Given the description of an element on the screen output the (x, y) to click on. 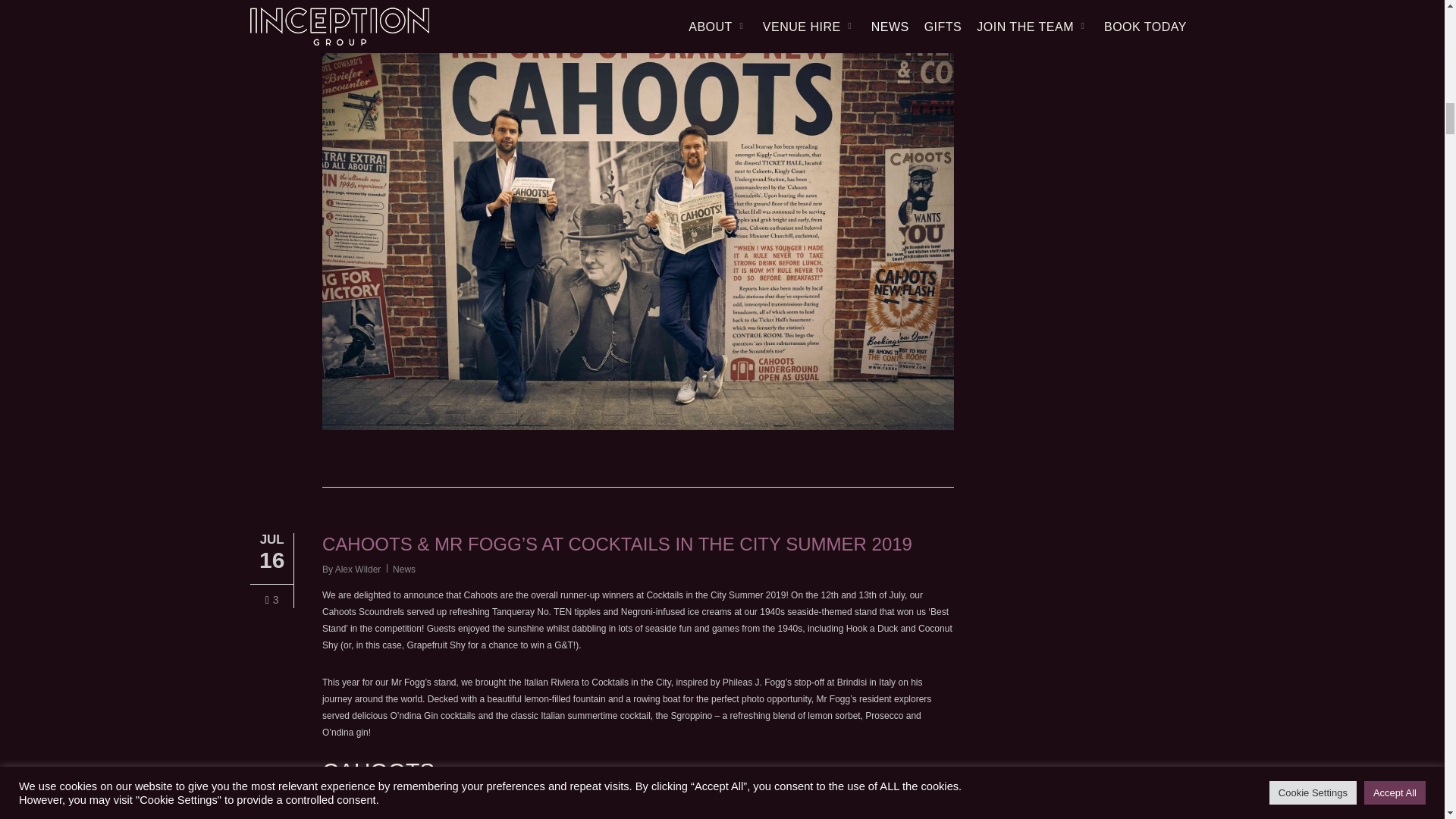
Love this (271, 600)
Posts by Alex Wilder (357, 569)
